Given the description of an element on the screen output the (x, y) to click on. 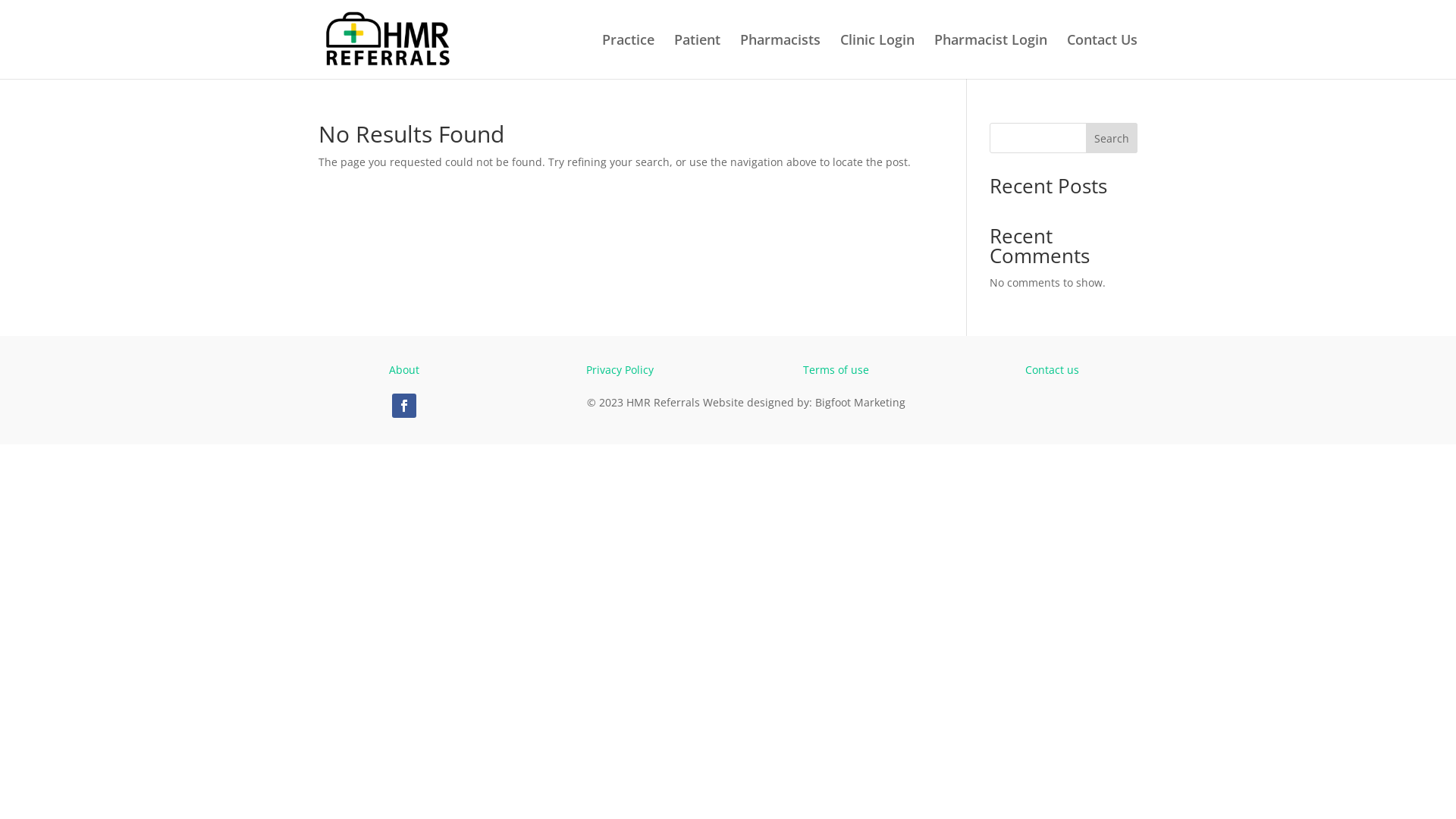
Clinic Login Element type: text (877, 56)
Pharmacist Login Element type: text (990, 56)
Patient Element type: text (697, 56)
Pharmacists Element type: text (780, 56)
Search Element type: text (1111, 137)
Contact Us Element type: text (1101, 56)
Practice Element type: text (628, 56)
Terms of use Element type: text (836, 369)
Follow on Facebook Element type: hover (404, 405)
Privacy Policy Element type: text (619, 369)
About Element type: text (404, 369)
Contact us Element type: text (1052, 369)
